Given the description of an element on the screen output the (x, y) to click on. 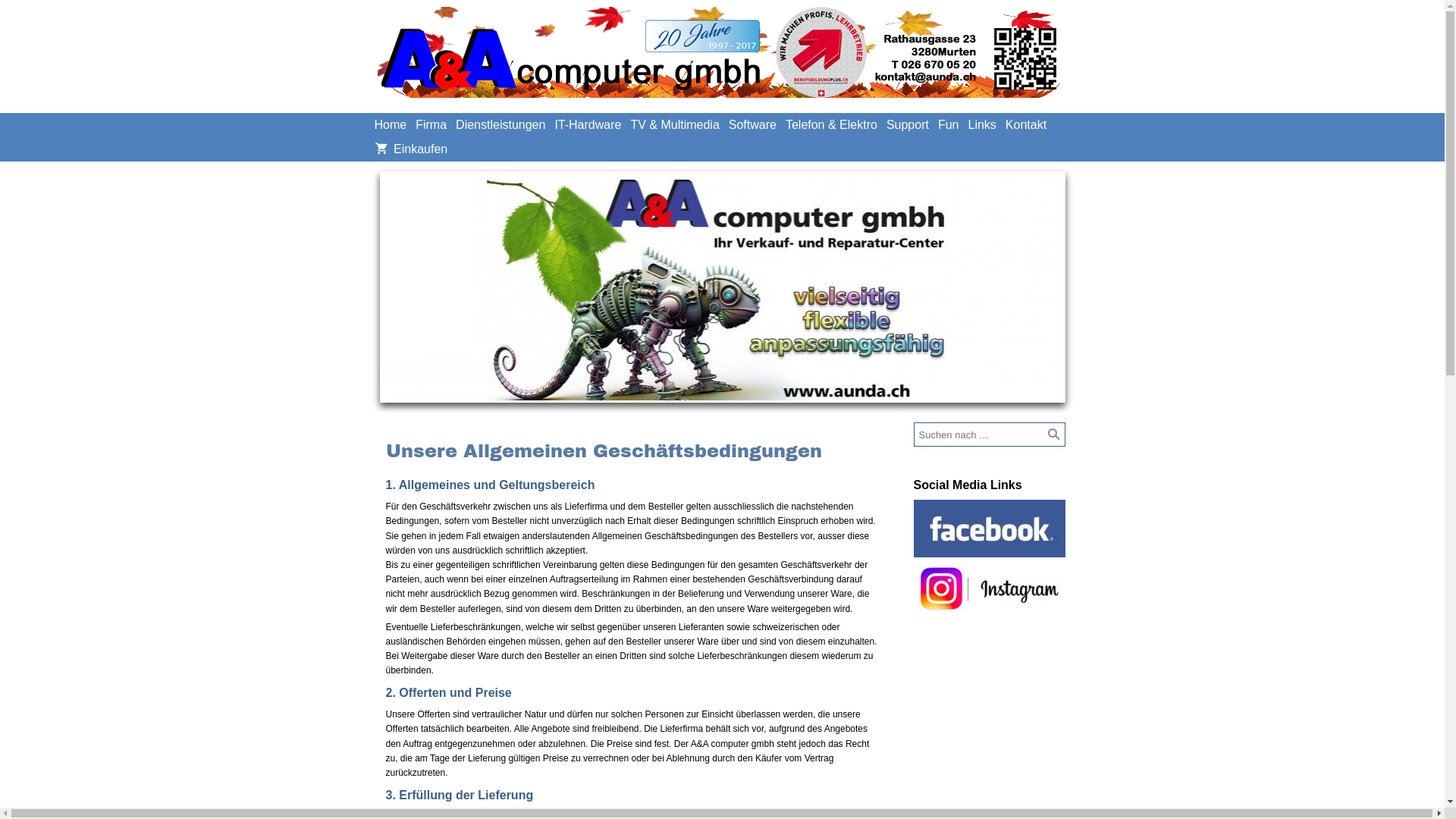
TV & Multimedia Element type: text (674, 124)
Einkaufen Element type: text (411, 149)
Support Element type: text (907, 124)
Dienstleistungen Element type: text (500, 124)
Firma Element type: text (431, 124)
Home Element type: text (390, 124)
Fun Element type: text (948, 124)
IT-Hardware Element type: text (587, 124)
Kontakt Element type: text (1026, 124)
Software Element type: text (752, 124)
Links Element type: text (981, 124)
Telefon & Elektro Element type: text (831, 124)
